Given the description of an element on the screen output the (x, y) to click on. 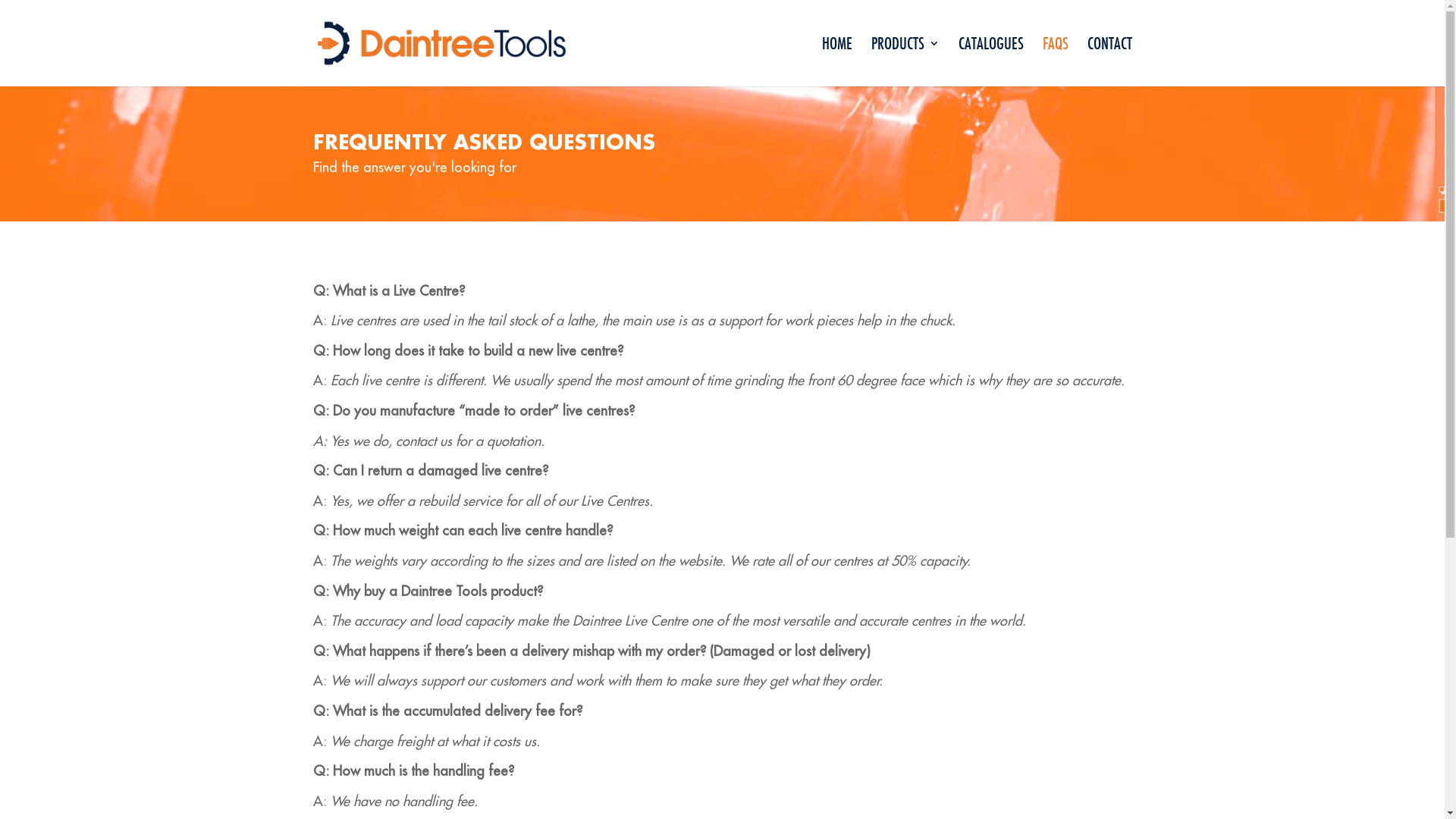
PRODUCTS Element type: text (904, 61)
CATALOGUES Element type: text (990, 61)
FAQS Element type: text (1054, 61)
CONTACT Element type: text (1109, 61)
HOME Element type: text (837, 61)
